Given the description of an element on the screen output the (x, y) to click on. 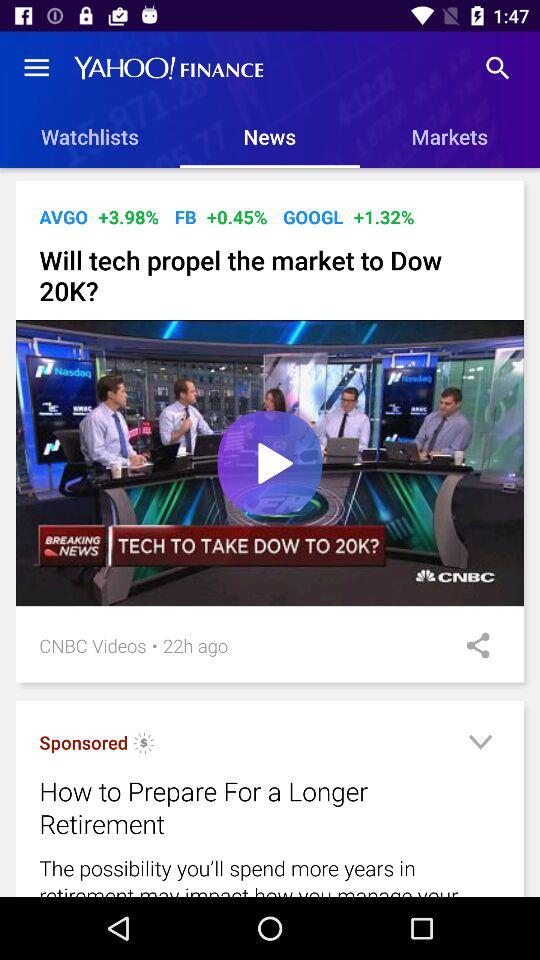
find out the sponsor (143, 745)
